Given the description of an element on the screen output the (x, y) to click on. 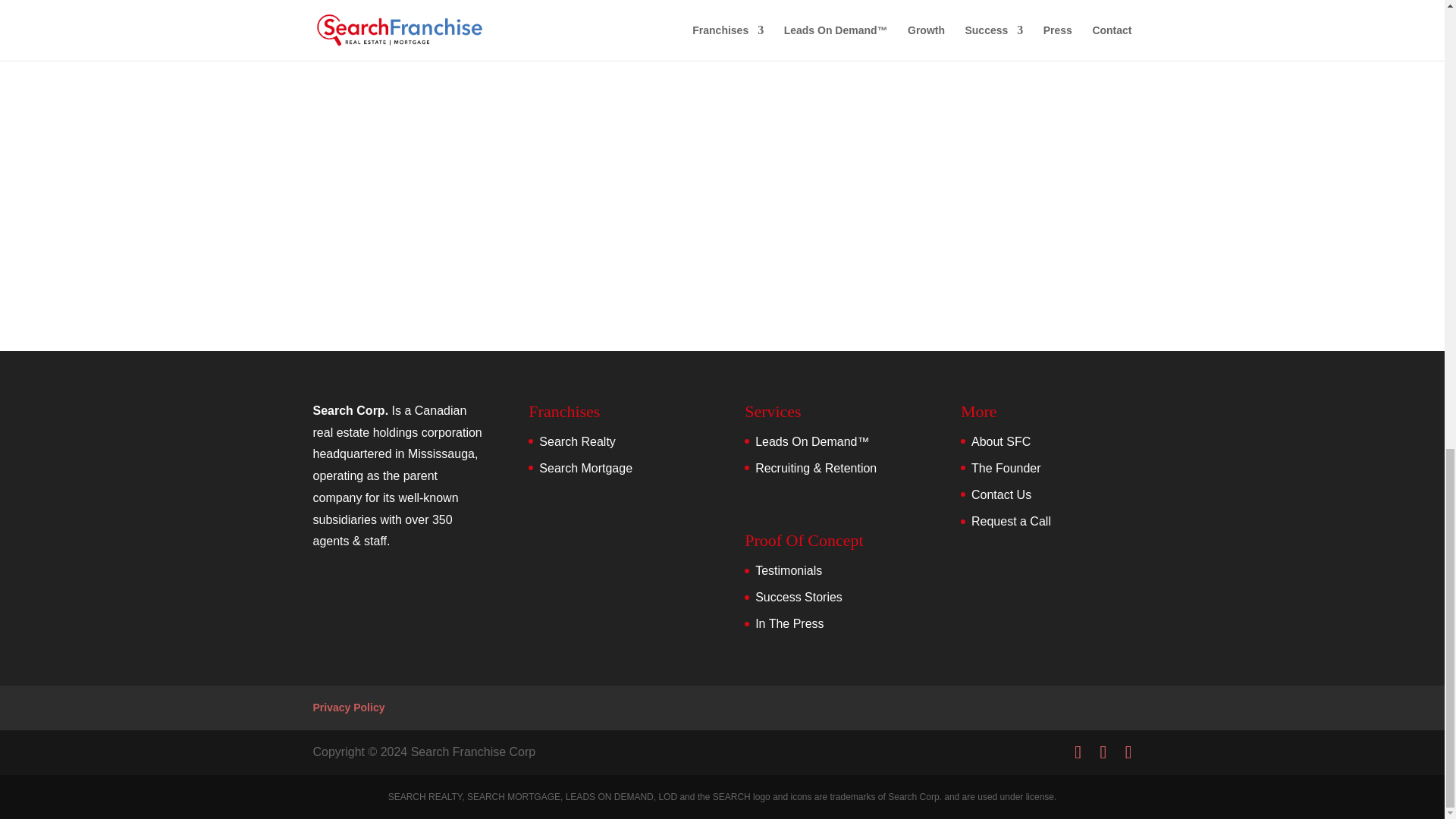
The Founder (1006, 468)
About SFC (1000, 440)
Most Trusted Au Online Casino (396, 44)
Testimonials (788, 570)
Search Mortgage (584, 468)
Contact Us (1000, 494)
Success Stories (799, 596)
In The Press (789, 623)
Privacy Policy (348, 707)
